Given the description of an element on the screen output the (x, y) to click on. 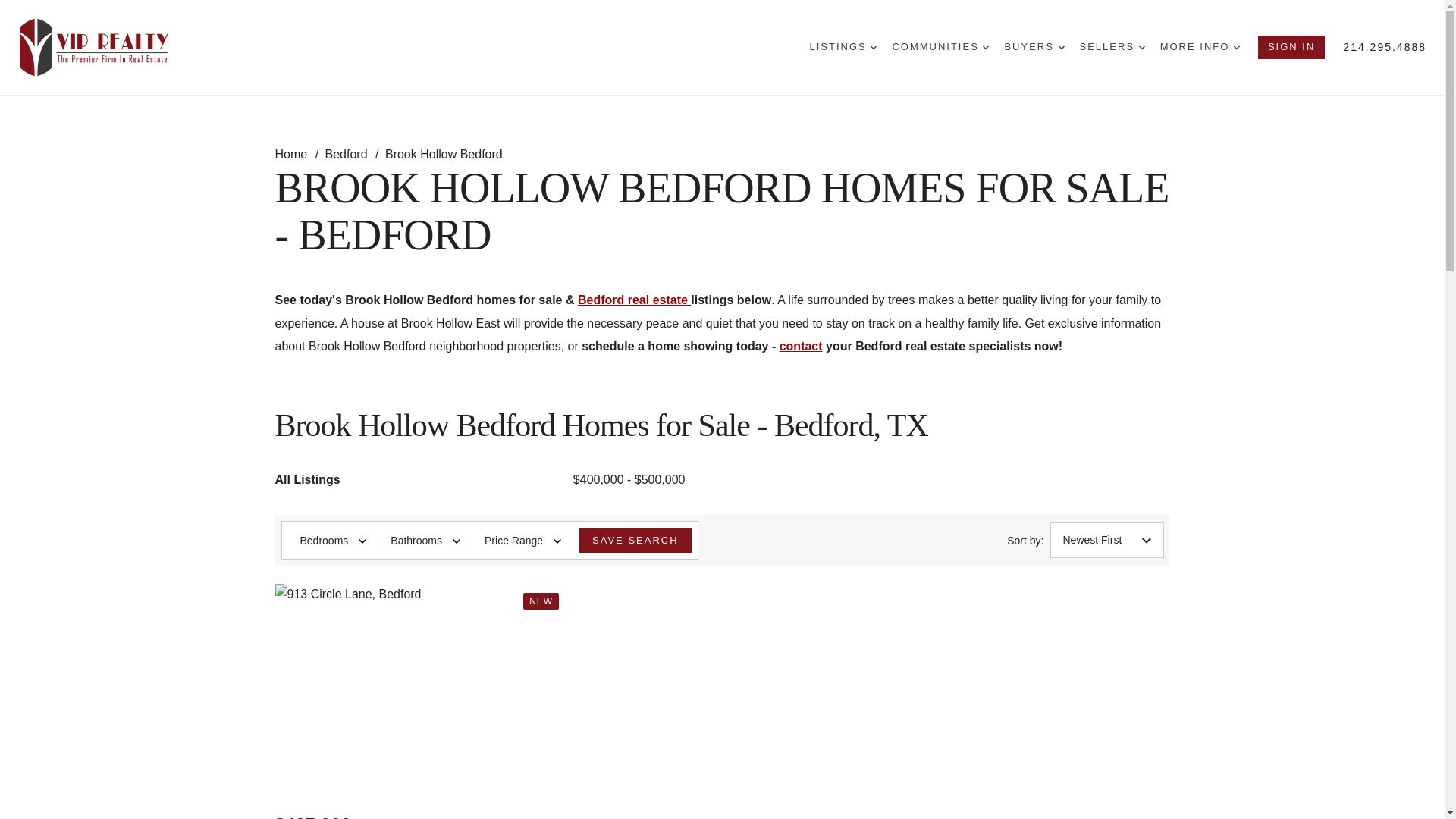
DROPDOWN ARROW (873, 47)
DROPDOWN ARROW (1141, 47)
SELLERS DROPDOWN ARROW (1112, 47)
DROPDOWN ARROW (1236, 47)
DROPDOWN ARROW (985, 47)
MORE INFO DROPDOWN ARROW (1200, 47)
BUYERS DROPDOWN ARROW (1034, 47)
COMMUNITIES DROPDOWN ARROW (939, 47)
DROPDOWN ARROW (1061, 47)
LISTINGS DROPDOWN ARROW (843, 47)
